Given the description of an element on the screen output the (x, y) to click on. 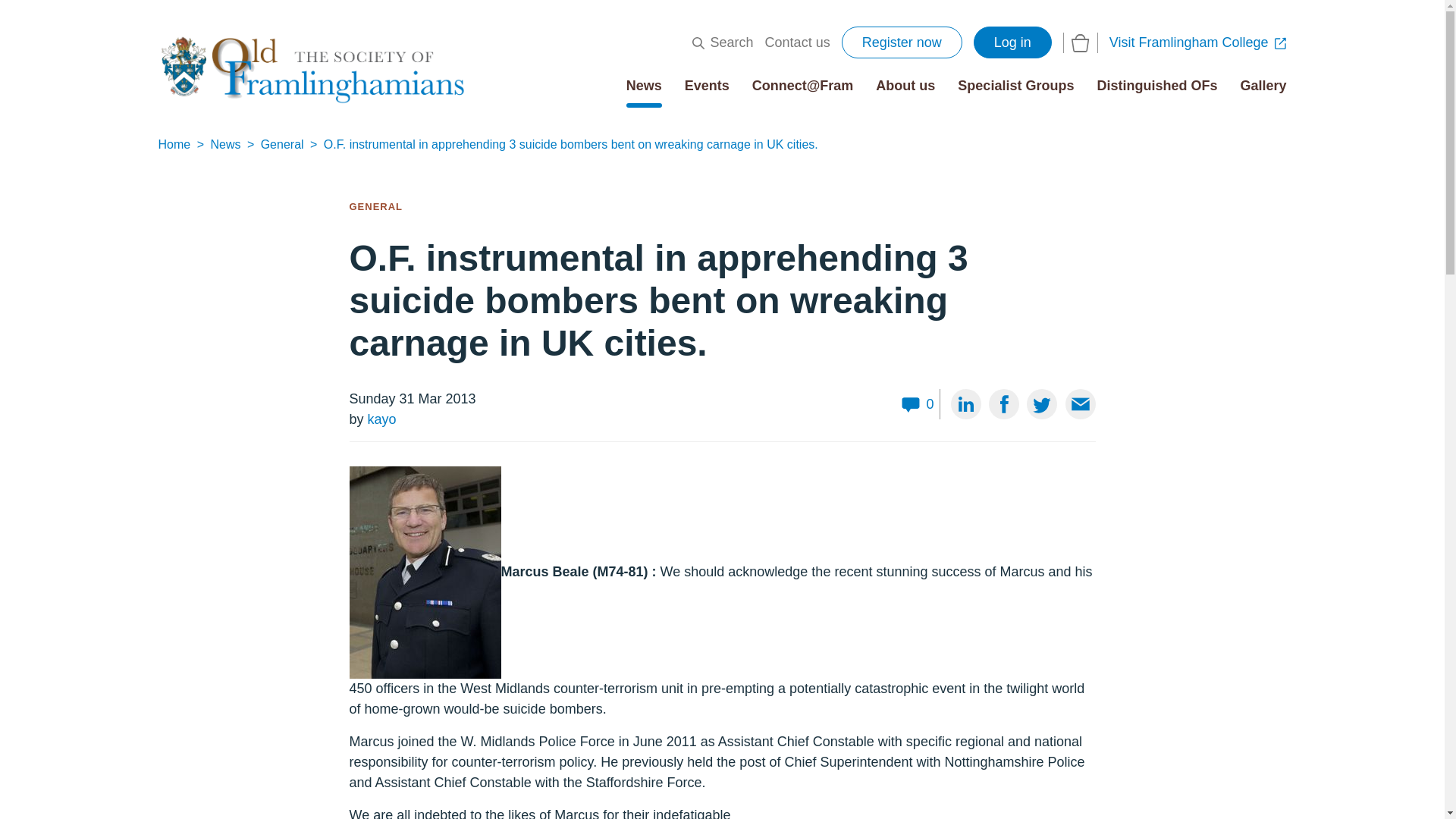
News (226, 144)
Register now (901, 42)
News (644, 85)
Contact us (797, 41)
Log in (1012, 42)
Visit Framlingham College (1198, 41)
Gallery (1262, 85)
General (283, 144)
Home (175, 144)
News (644, 85)
Contact us (797, 41)
Events (706, 85)
Specialist Groups (1016, 85)
Search (723, 41)
Search (723, 41)
